Given the description of an element on the screen output the (x, y) to click on. 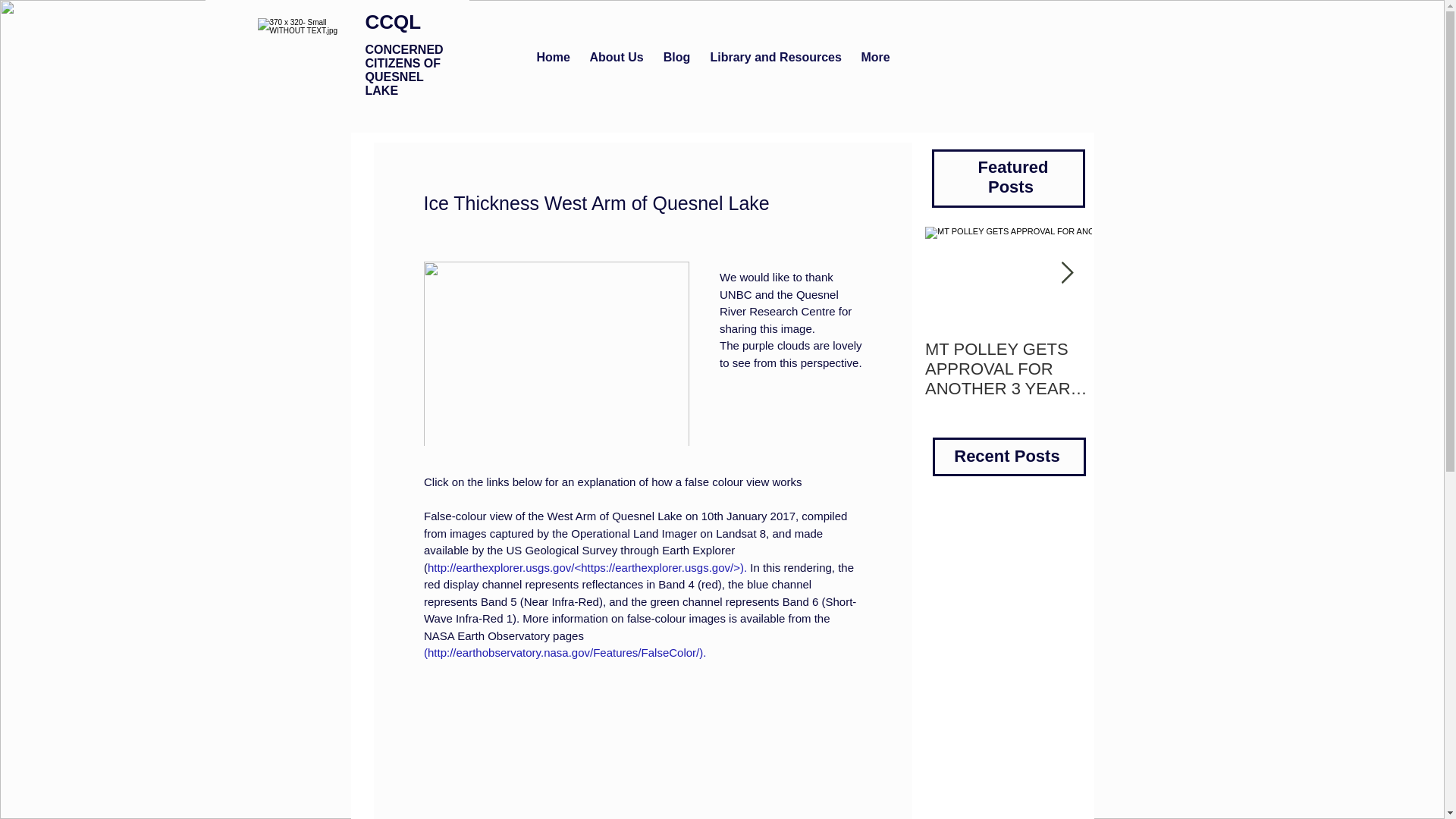
Blog (676, 57)
Home (552, 57)
About Us (615, 57)
Library and Resources (775, 57)
